Given the description of an element on the screen output the (x, y) to click on. 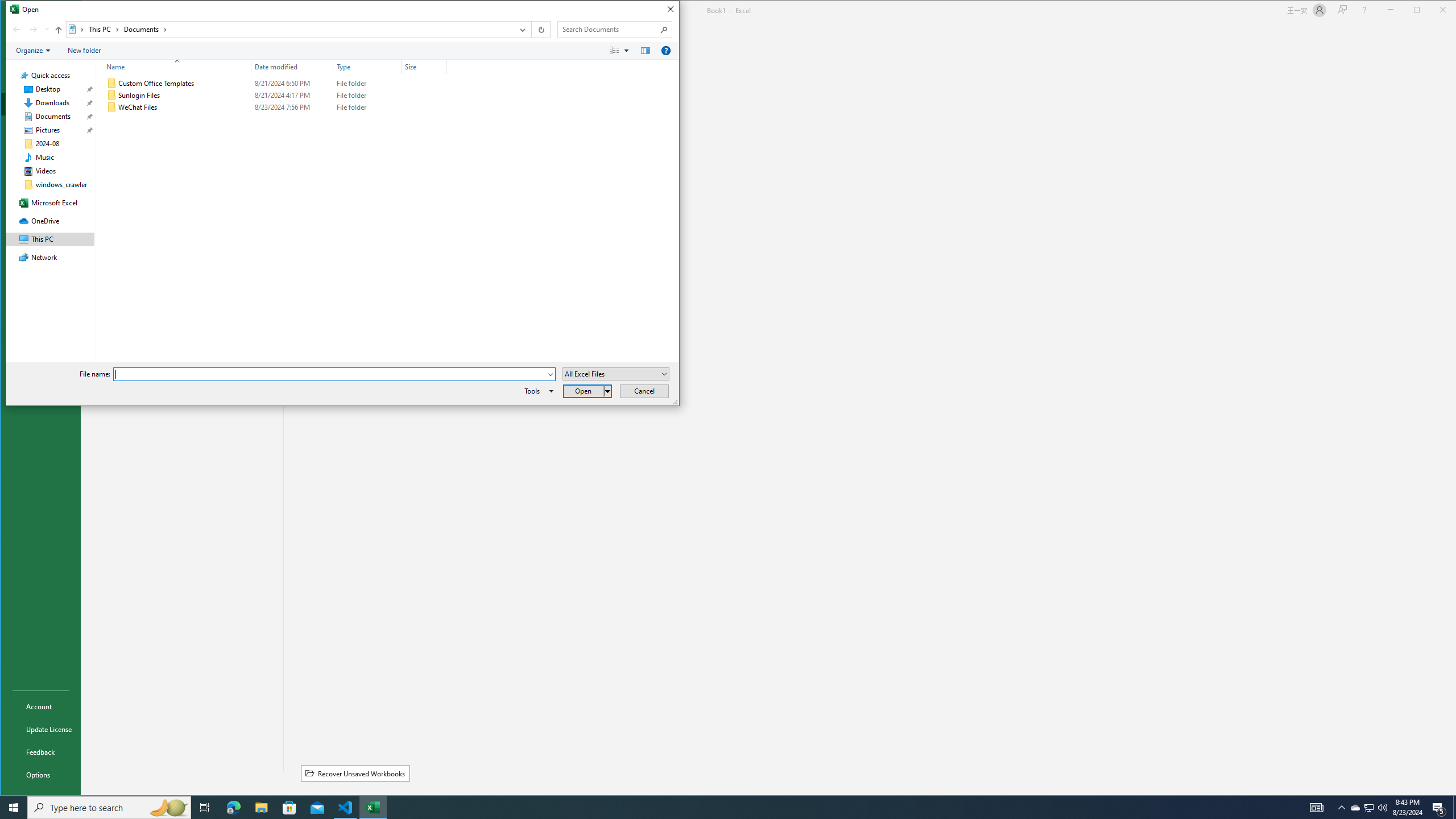
Close (670, 9)
Notification Chevron (1341, 807)
